Given the description of an element on the screen output the (x, y) to click on. 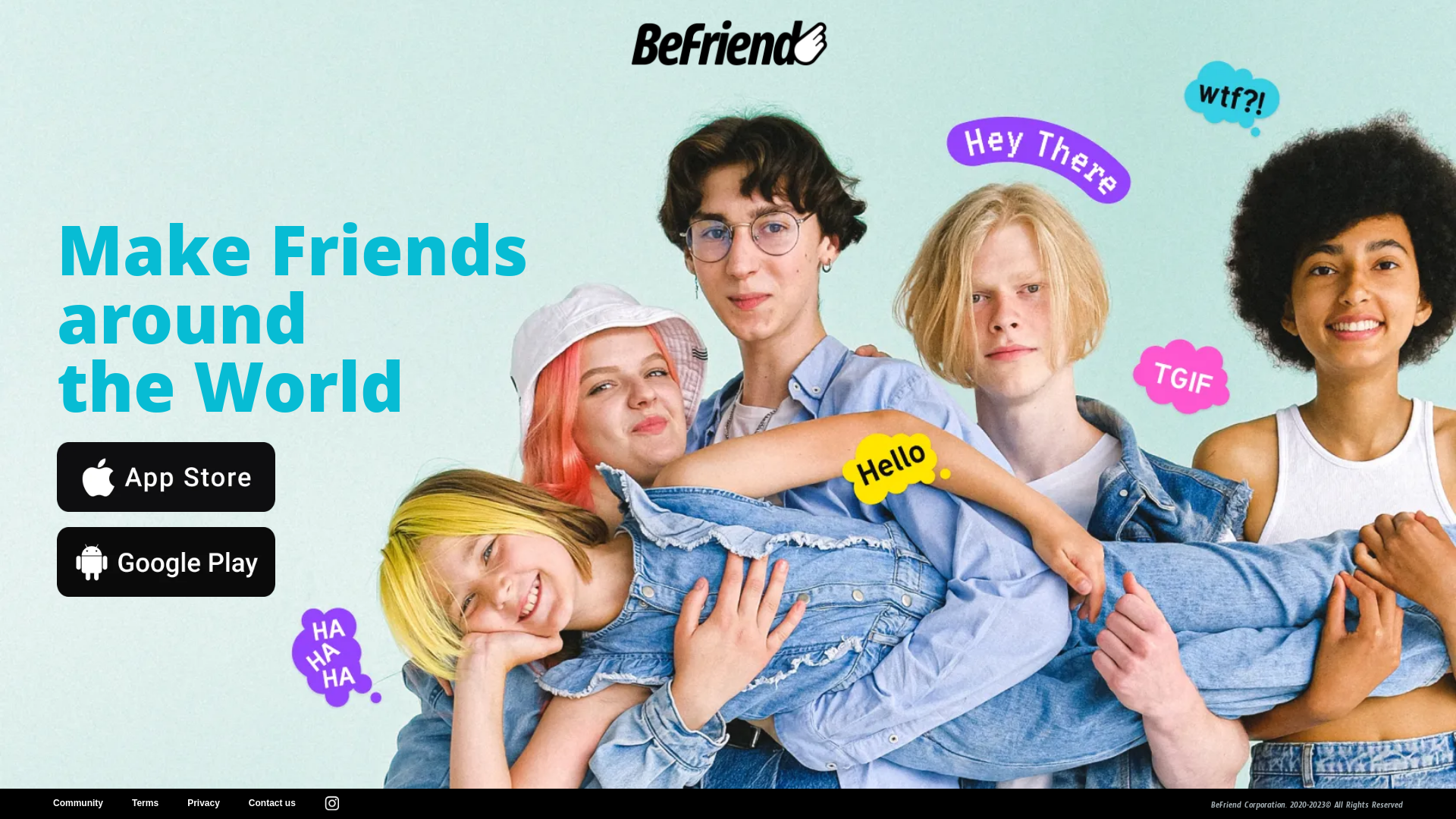
Community Element type: text (78, 802)
Terms Element type: text (144, 802)
Contact us Element type: text (271, 802)
Privacy Element type: text (203, 802)
